Given the description of an element on the screen output the (x, y) to click on. 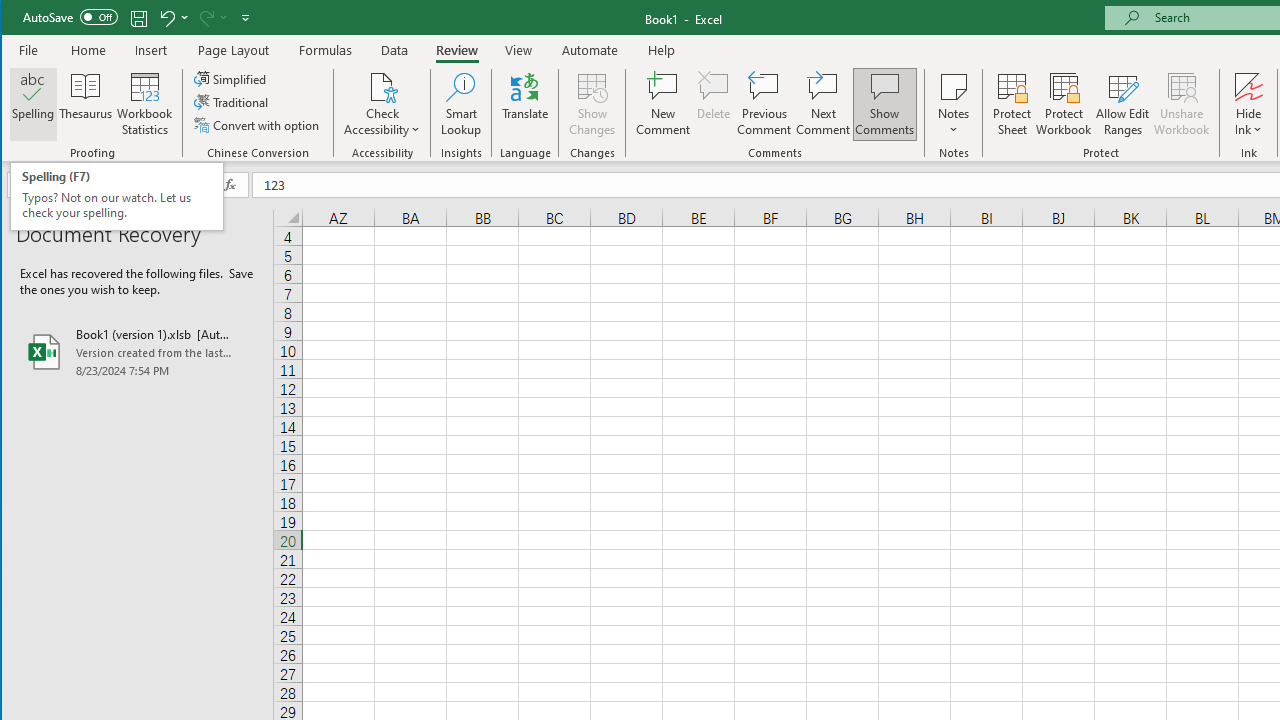
Check Accessibility (381, 86)
Smart Lookup (461, 104)
Next Comment (822, 104)
Workbook Statistics (145, 104)
